Given the description of an element on the screen output the (x, y) to click on. 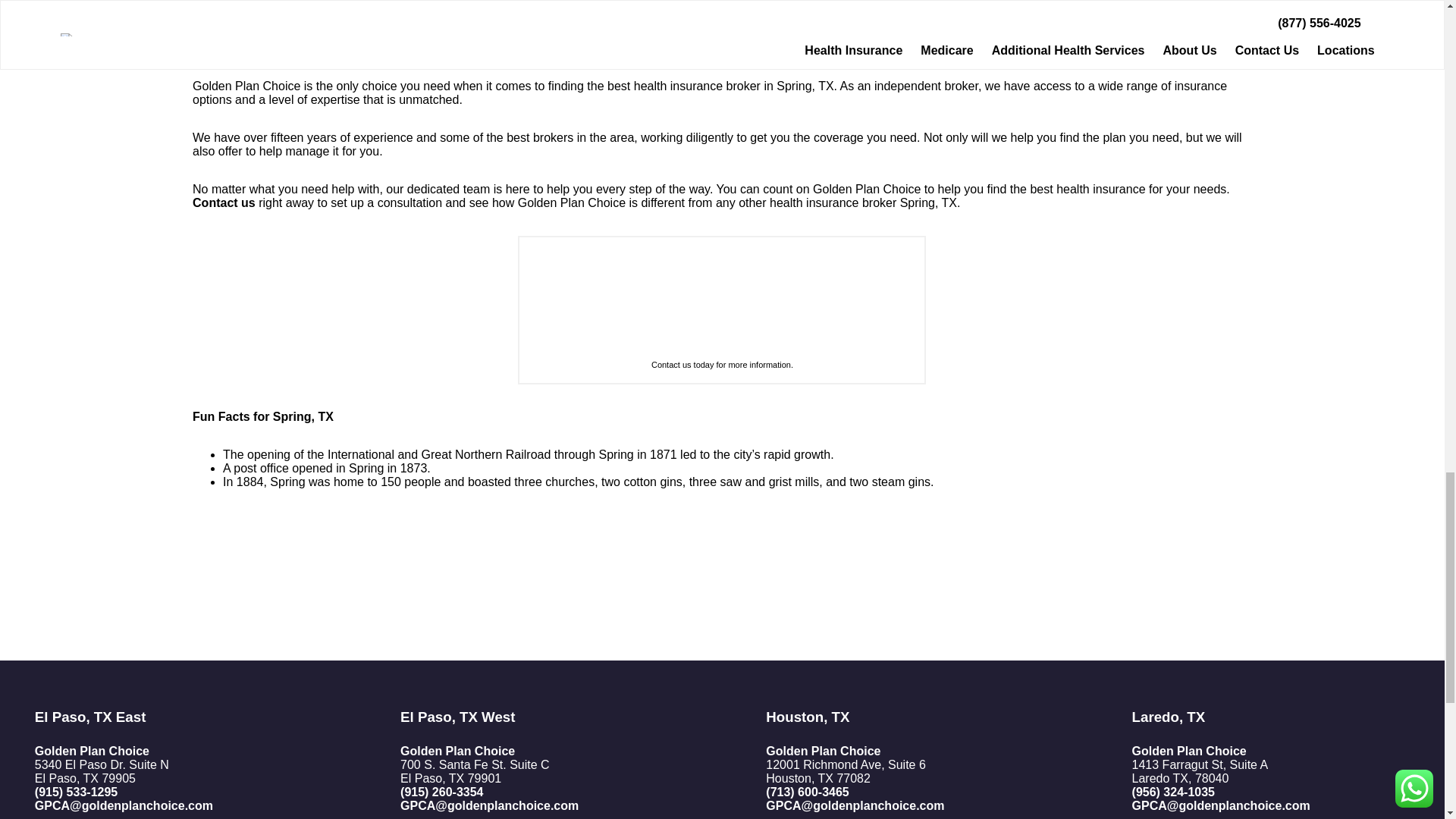
group insurance (801, 33)
health services (1065, 33)
Affordable Care Act (689, 33)
Medicare plans (562, 33)
